Given the description of an element on the screen output the (x, y) to click on. 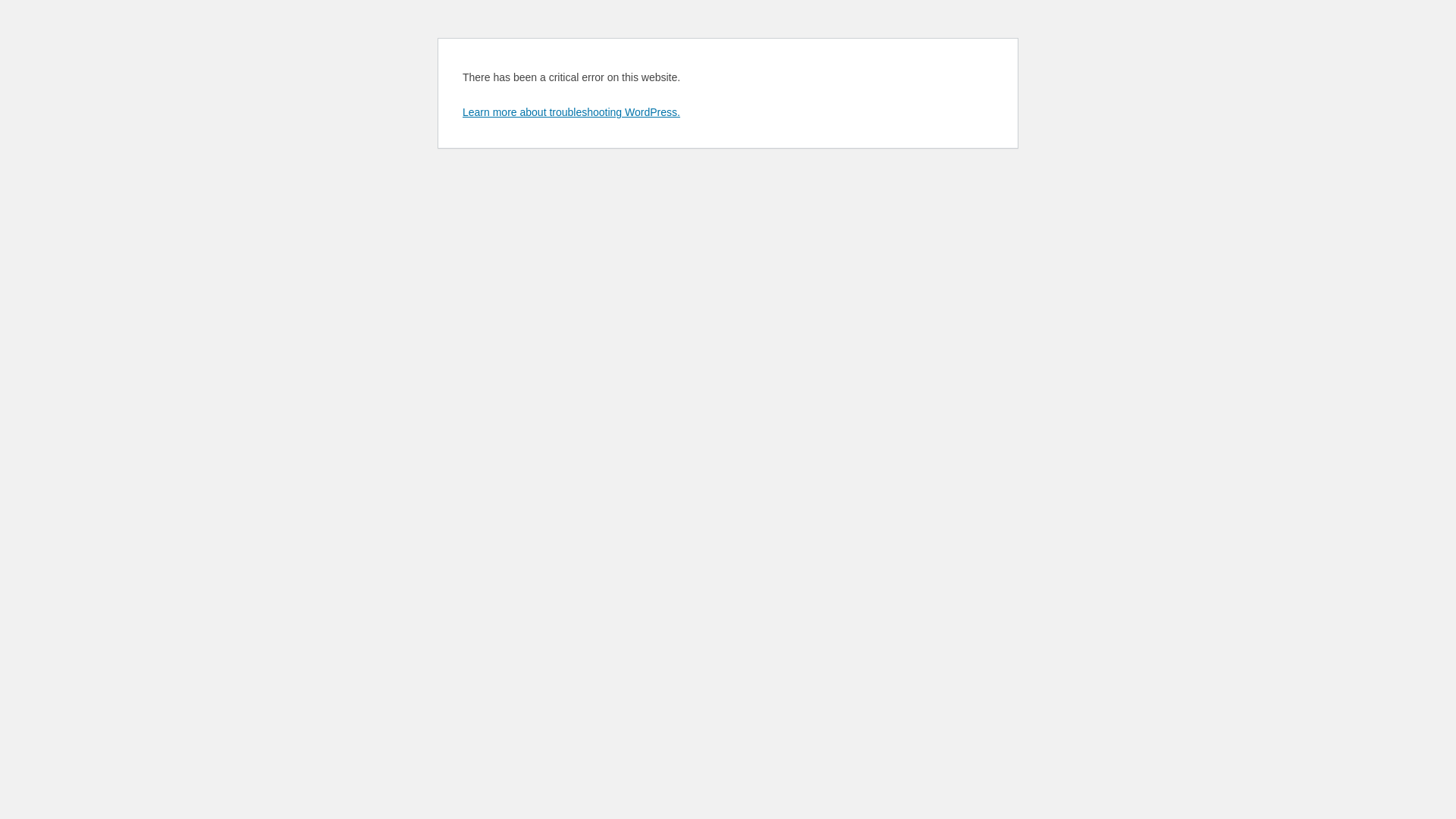
Learn more about troubleshooting WordPress. Element type: text (571, 112)
